Given the description of an element on the screen output the (x, y) to click on. 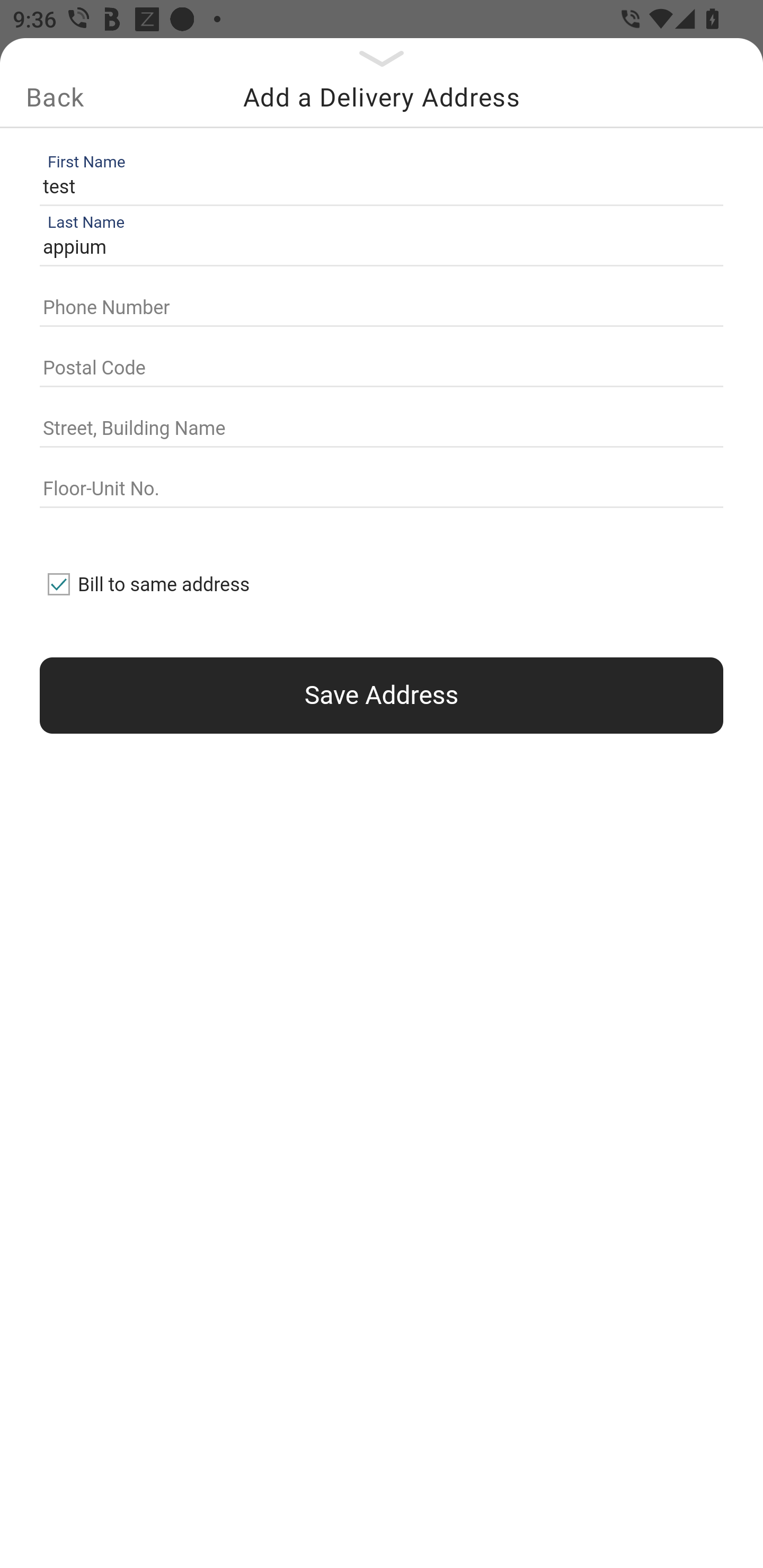
Back (54, 96)
Add a Delivery Address (381, 96)
test (377, 186)
appium (377, 247)
Save Address (381, 694)
